Given the description of an element on the screen output the (x, y) to click on. 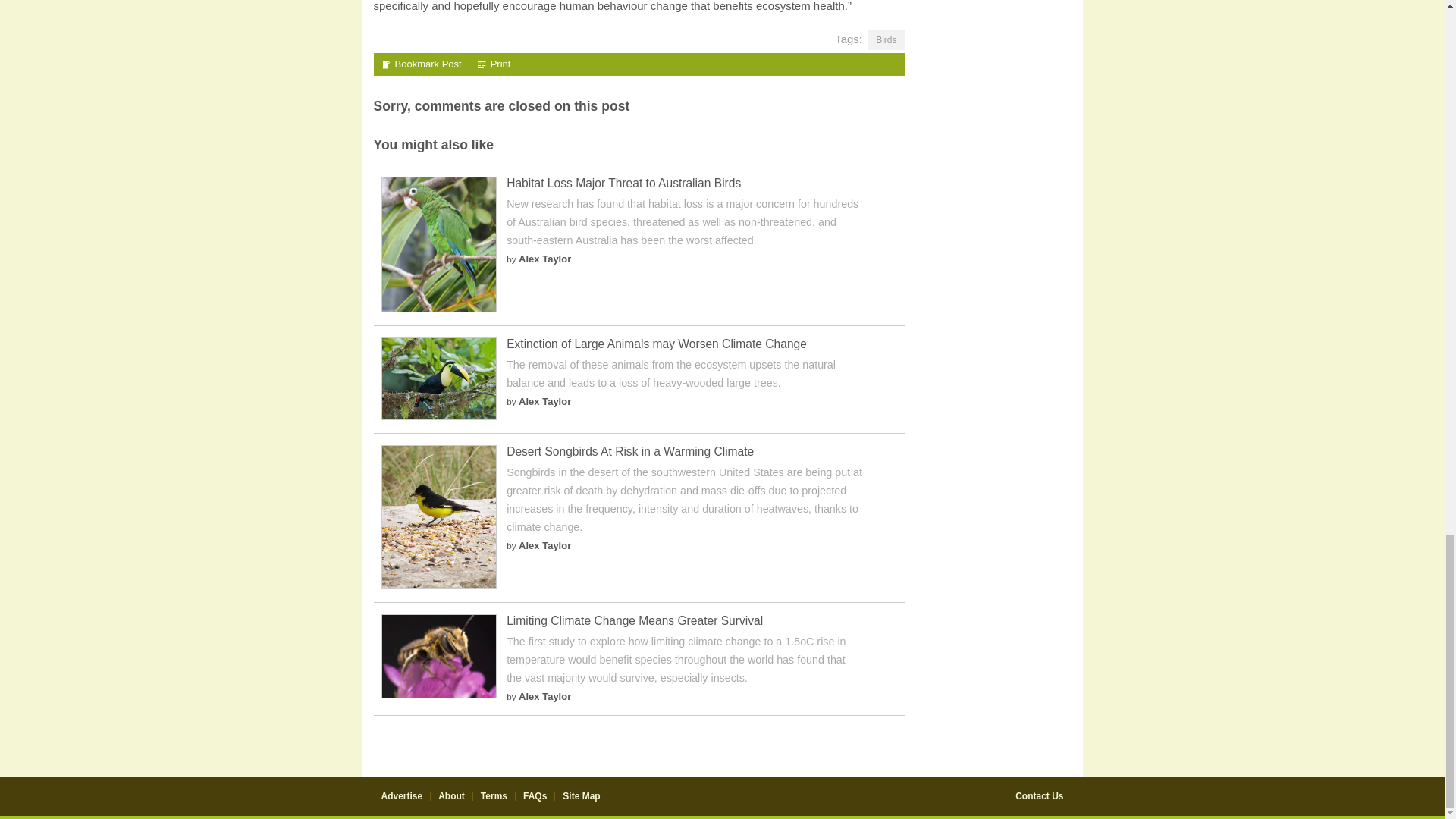
Terms (493, 796)
Extinction of Large Animals may Worsen Climate Change (438, 416)
Limiting Climate Change Means Greater Survival (438, 695)
Print (494, 63)
Extinction of Large Animals may Worsen Climate Change (656, 343)
Birds (885, 39)
Desert Songbirds At Risk in a Warming Climate (630, 451)
Advertise (401, 796)
Habitat Loss Major Threat to Australian Birds (623, 182)
Contact (1038, 796)
